Given the description of an element on the screen output the (x, y) to click on. 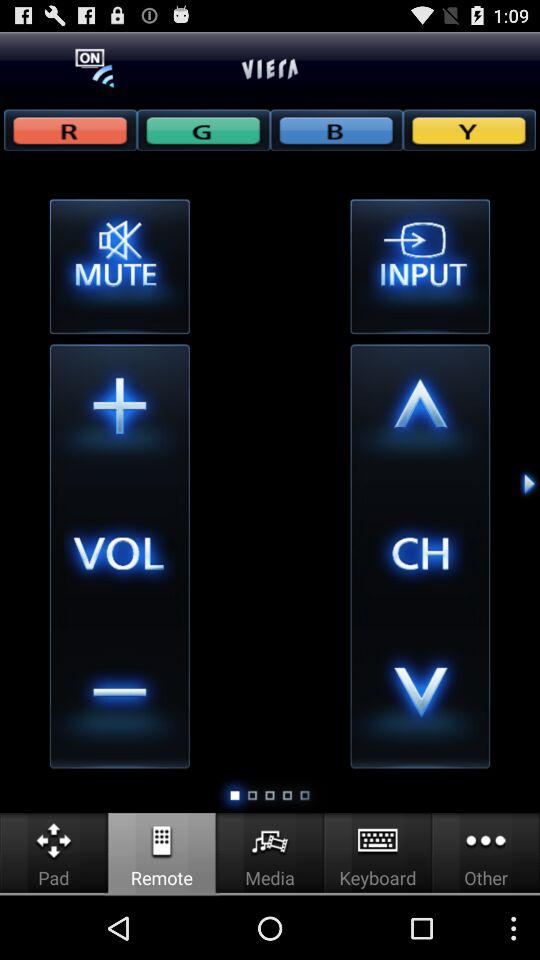
button r (70, 129)
